Given the description of an element on the screen output the (x, y) to click on. 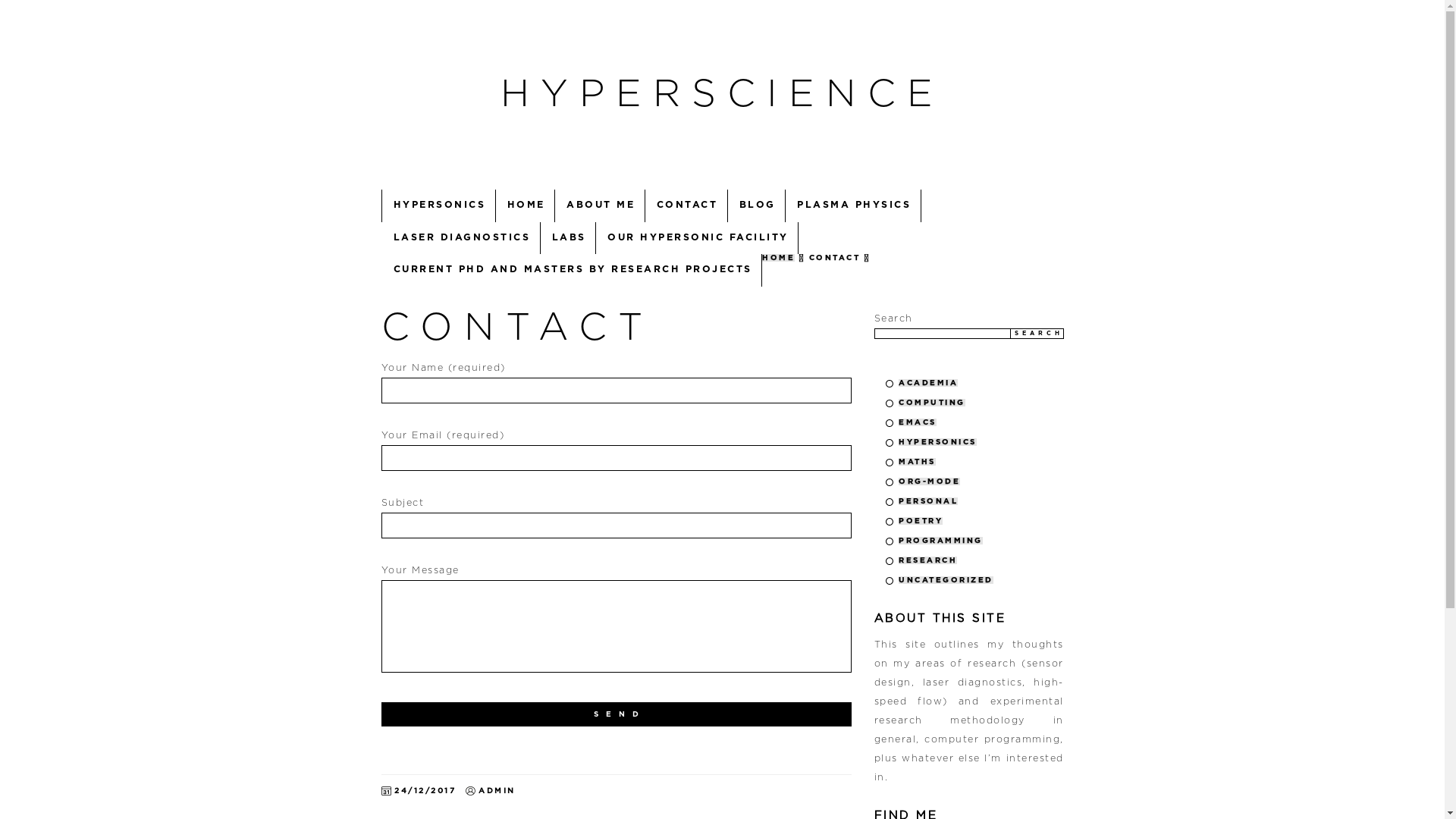
PLASMA PHYSICS Element type: text (853, 205)
COMPUTING Element type: text (931, 402)
UNCATEGORIZED Element type: text (945, 579)
BLOG Element type: text (757, 205)
MATHS Element type: text (916, 461)
LABS Element type: text (567, 237)
HOME Element type: text (525, 205)
PERSONAL Element type: text (927, 501)
HOME Element type: text (778, 257)
SEARCH Element type: text (1036, 332)
LASER DIAGNOSTICS Element type: text (461, 237)
CONTACT Element type: text (516, 328)
PROGRAMMING Element type: text (940, 540)
POETRY Element type: text (920, 520)
ACADEMIA Element type: text (927, 382)
Send Element type: text (615, 714)
RESEARCH Element type: text (927, 560)
ABOUT ME Element type: text (600, 205)
OUR HYPERSONIC FACILITY Element type: text (697, 237)
ORG-MODE Element type: text (929, 481)
CURRENT PHD AND MASTERS BY RESEARCH PROJECTS Element type: text (572, 270)
EMACS Element type: text (917, 422)
HYPERSCIENCE Element type: text (722, 94)
HYPERSONICS Element type: text (937, 441)
HYPERSONICS Element type: text (438, 205)
CONTACT Element type: text (685, 205)
